Given the description of an element on the screen output the (x, y) to click on. 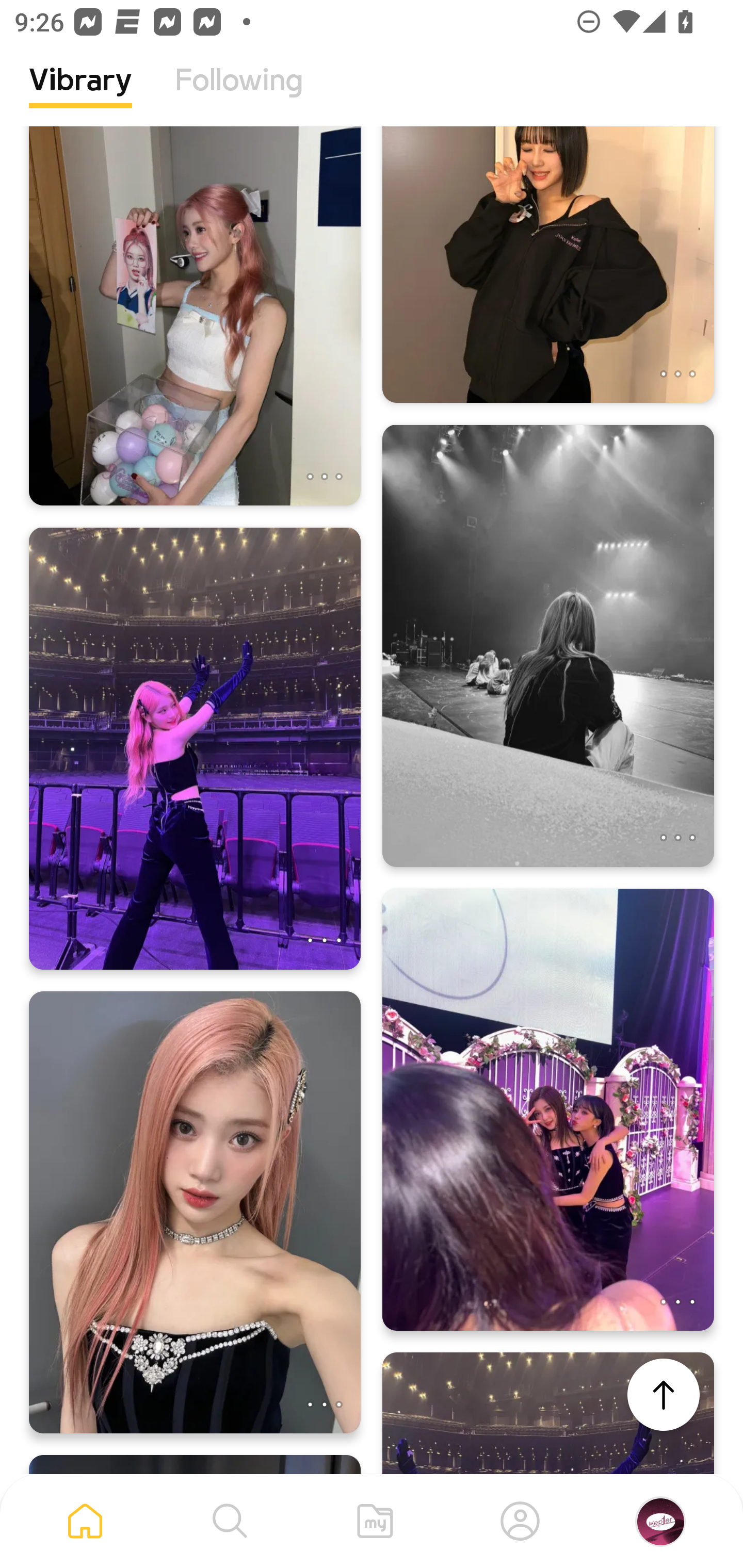
Vibrary (80, 95)
Following (239, 95)
